Given the description of an element on the screen output the (x, y) to click on. 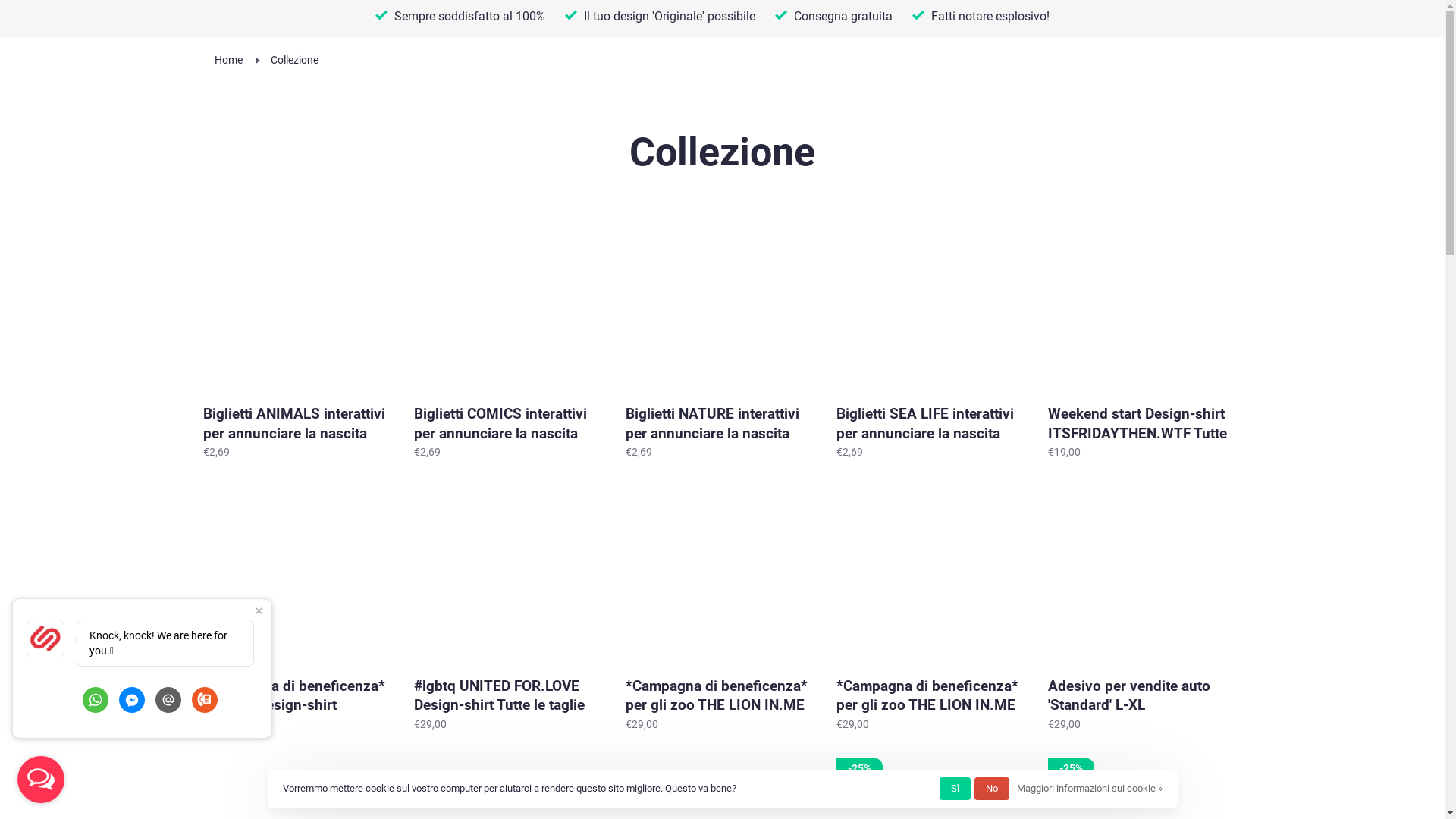
No Element type: text (990, 788)
Adesivo per vendite auto 'Standard' L-XL Element type: hover (1142, 571)
#lgbtq UNITED FOR.LOVE Design-shirt Tutte le taglie Element type: text (508, 694)
Weekend start Design-shirt ITSFRIDAYTHEN.WTF Tutte le taglie Element type: text (1142, 422)
#lgbtq UNITED FOR.LOVE Design-shirt Tutte le taglie Element type: hover (508, 571)
Collezione Element type: text (293, 59)
Adesivo per vendite auto 'Standard' L-XL Element type: text (1142, 694)
Home Element type: text (227, 59)
Weekend start Design-shirt ITSFRIDAYTHEN.WTF Tutte le taglie Element type: hover (1142, 299)
